Given the description of an element on the screen output the (x, y) to click on. 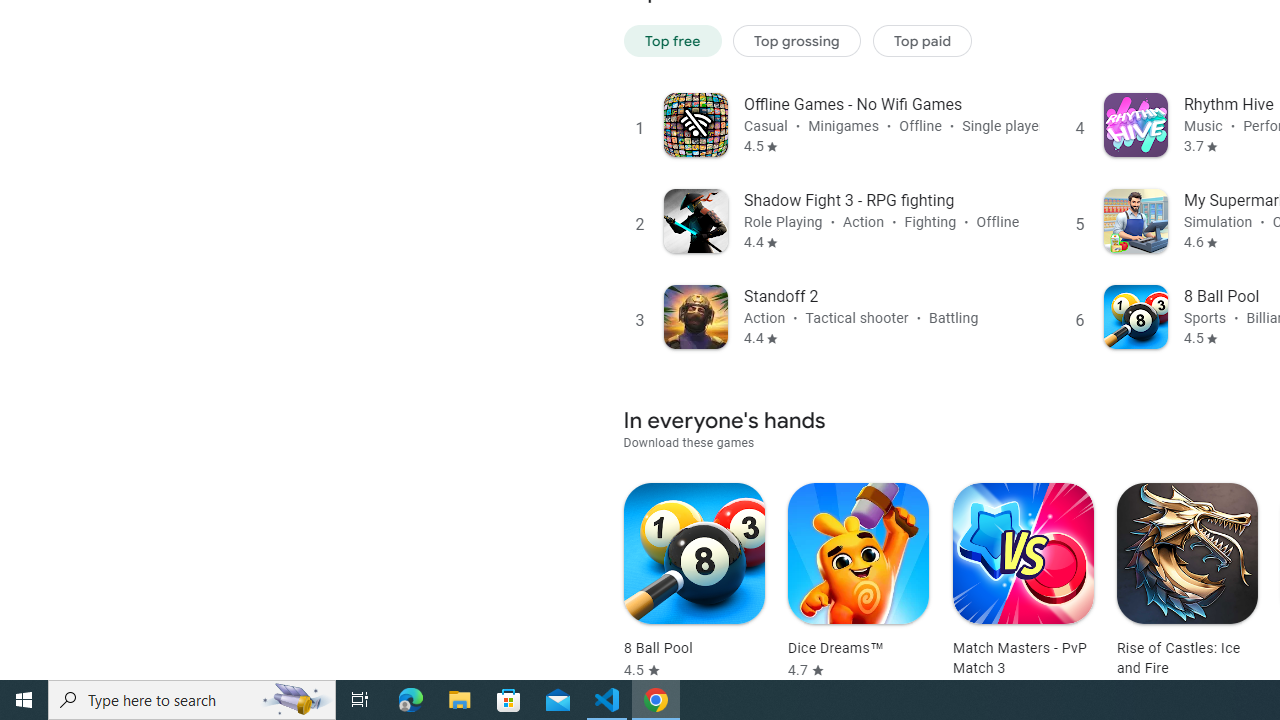
Top free (672, 39)
Top paid (922, 39)
8 Ball Pool Rated 4.5 stars out of five stars (694, 581)
Top grossing (797, 39)
